Given the description of an element on the screen output the (x, y) to click on. 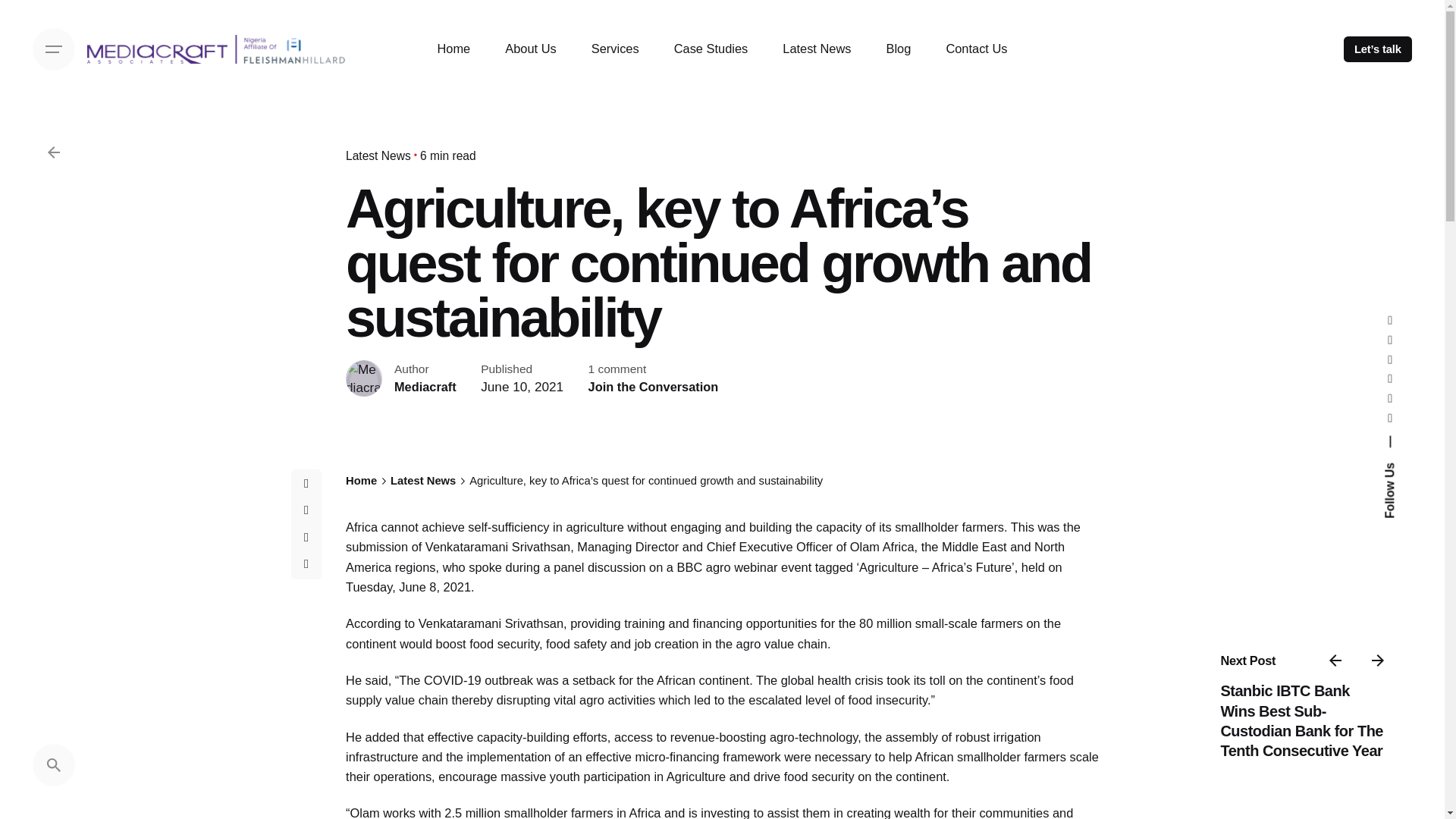
About Us (530, 49)
Case Studies (710, 49)
Blog (898, 49)
Contact Us (976, 49)
Services (614, 49)
Home (453, 49)
Latest News (816, 49)
